Given the description of an element on the screen output the (x, y) to click on. 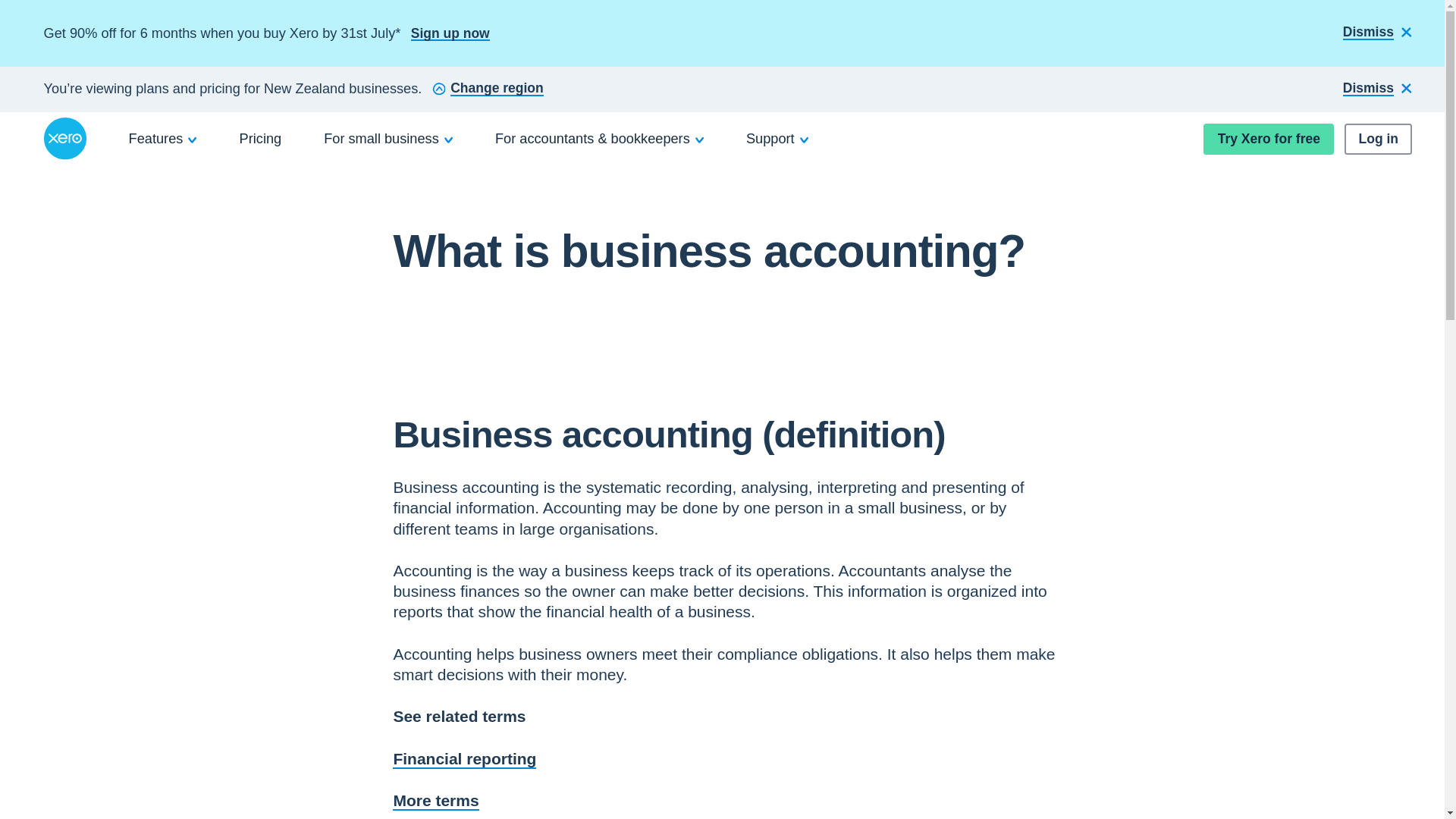
More terms (436, 800)
For small business (388, 138)
Features (162, 138)
Change region (487, 89)
Financial reporting (464, 758)
Sign up now (449, 32)
Dismiss (1377, 89)
Log in (1377, 138)
Pricing (260, 138)
Dismiss (1377, 33)
Try Xero for free (1268, 138)
Support (777, 138)
